Given the description of an element on the screen output the (x, y) to click on. 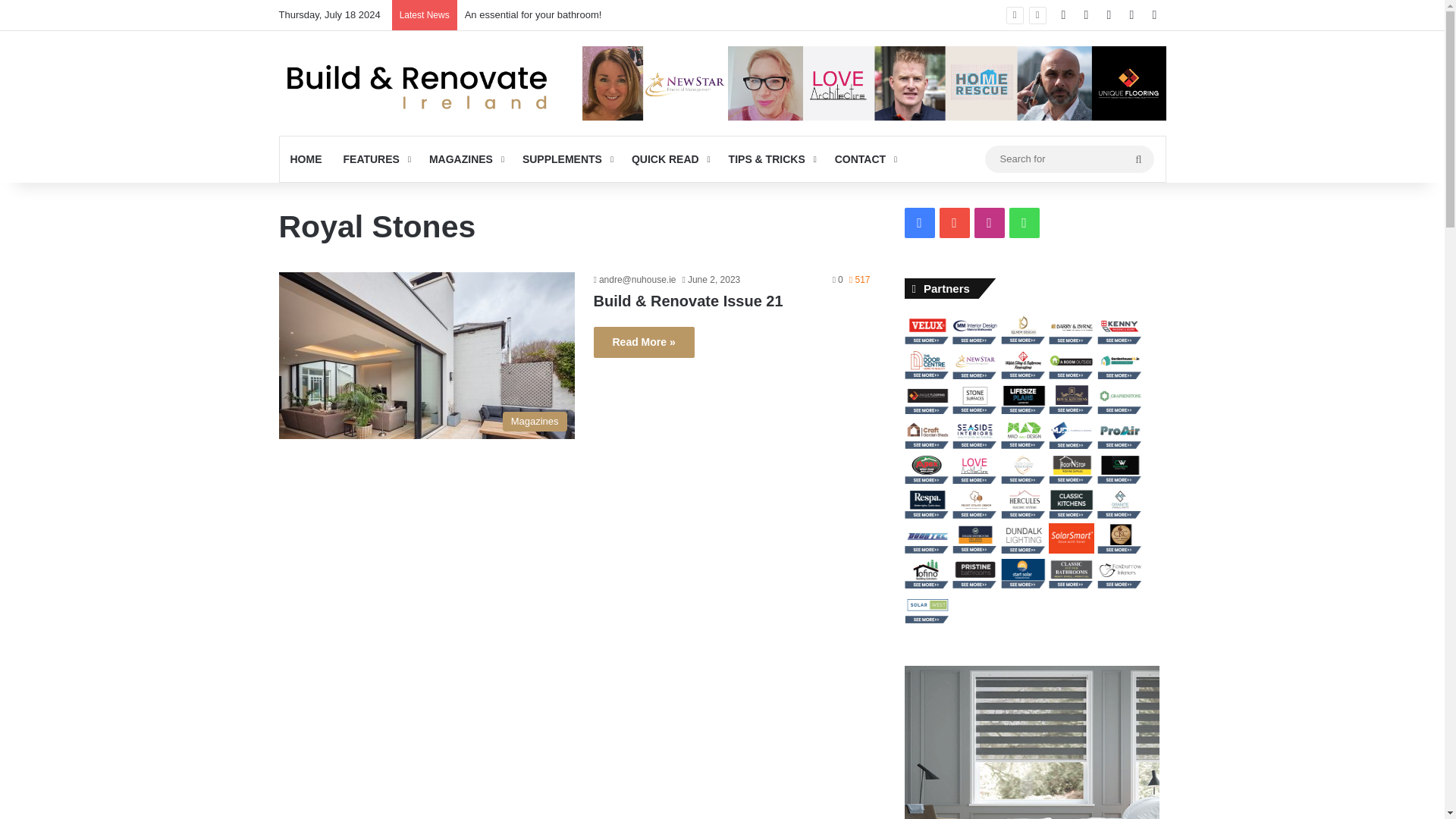
Search for (1068, 158)
Instagram (1109, 15)
WhatsApp (1131, 15)
YouTube (1086, 15)
Facebook (1063, 15)
MAGAZINES (465, 158)
QUICK READ (669, 158)
HOME (305, 158)
An essential for your bathroom! (533, 14)
SUPPLEMENTS (566, 158)
Sidebar (1154, 15)
FEATURES (374, 158)
